Given the description of an element on the screen output the (x, y) to click on. 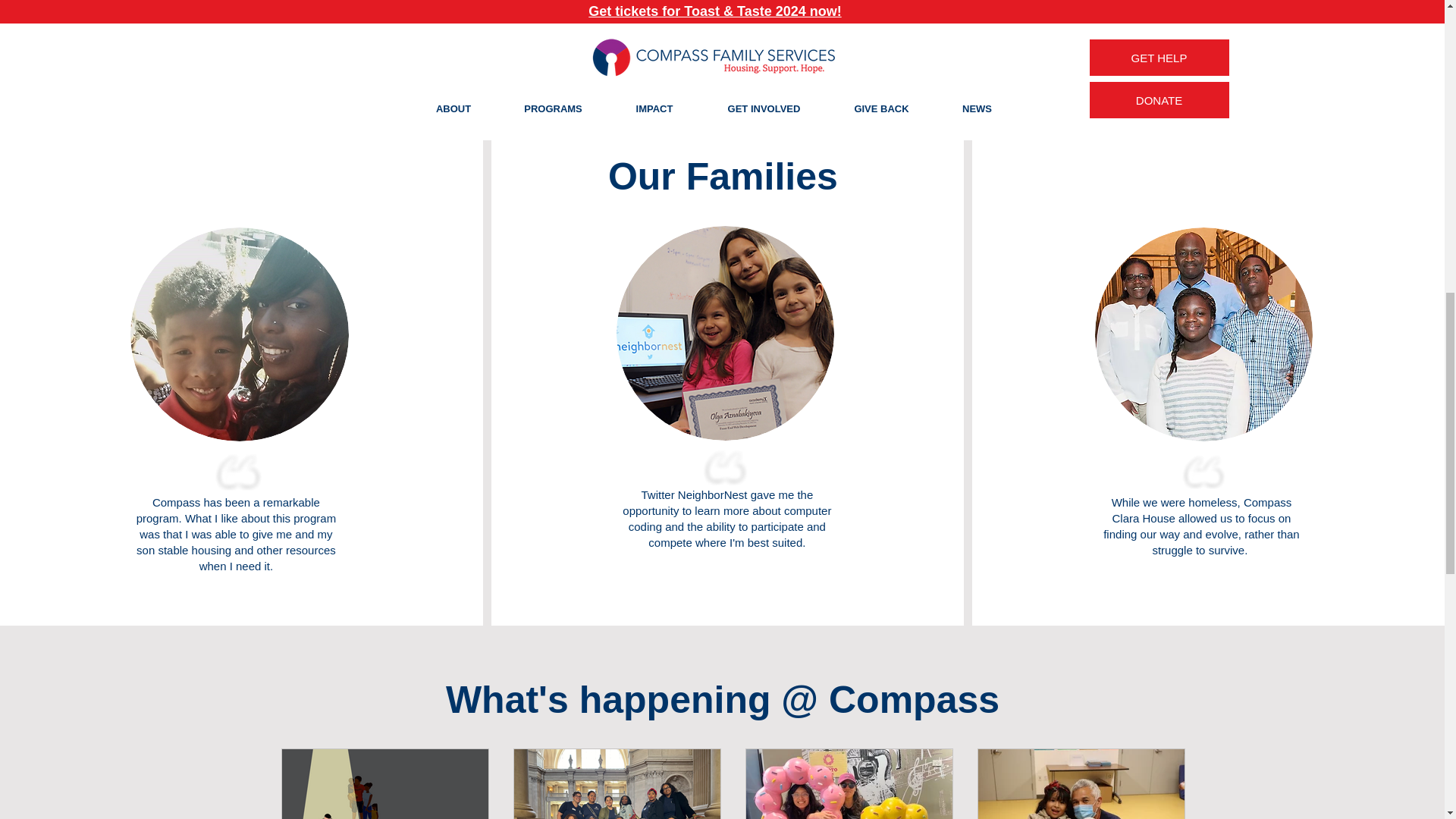
GettyImages-535587703.jpg (240, 334)
GettyImages-124893619.jpg (724, 333)
GettyImages-145680711.jpg (1203, 334)
